Given the description of an element on the screen output the (x, y) to click on. 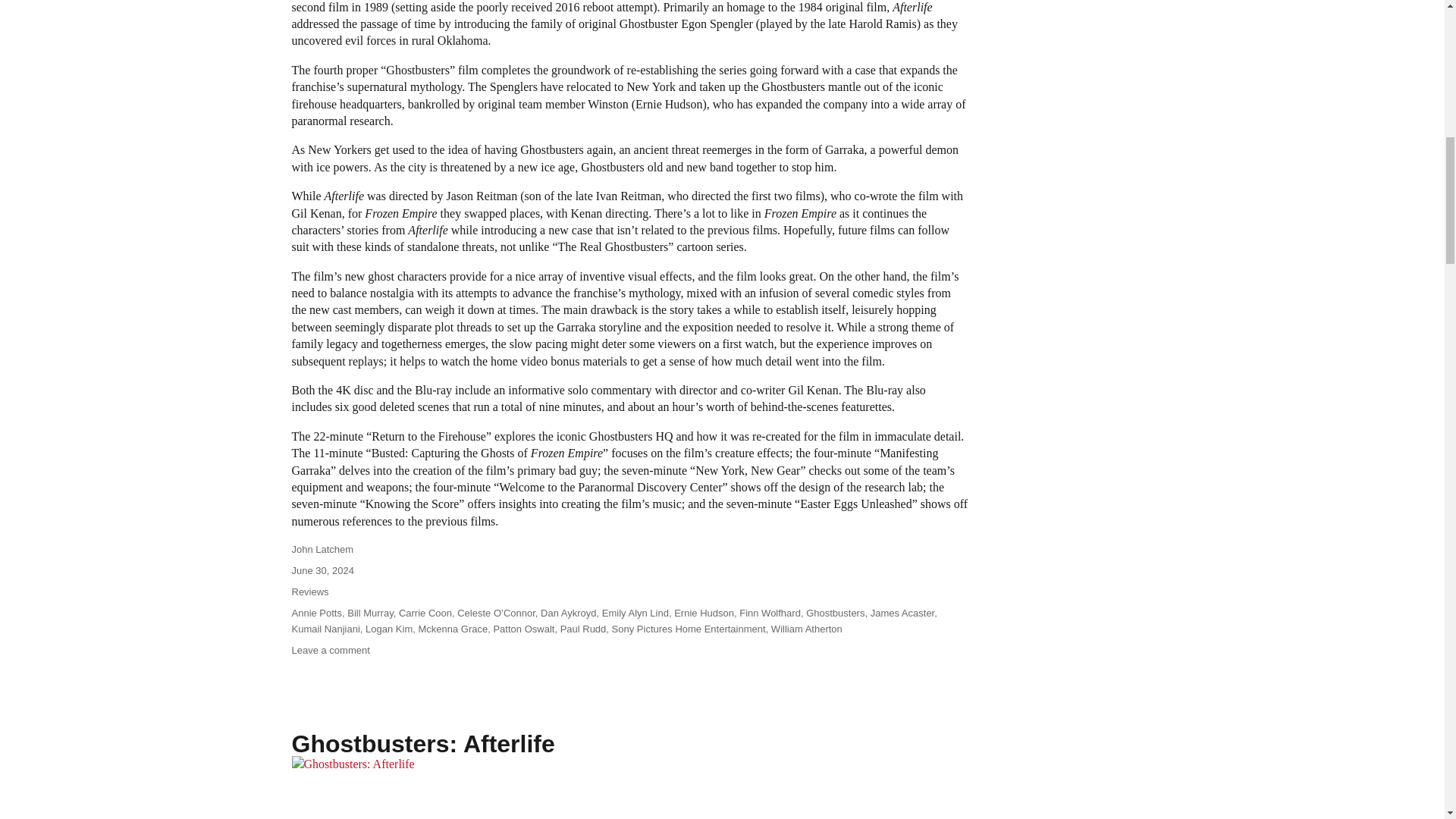
Annie Potts (316, 613)
John Latchem (322, 549)
June 30, 2024 (322, 570)
Reviews (310, 591)
